Given the description of an element on the screen output the (x, y) to click on. 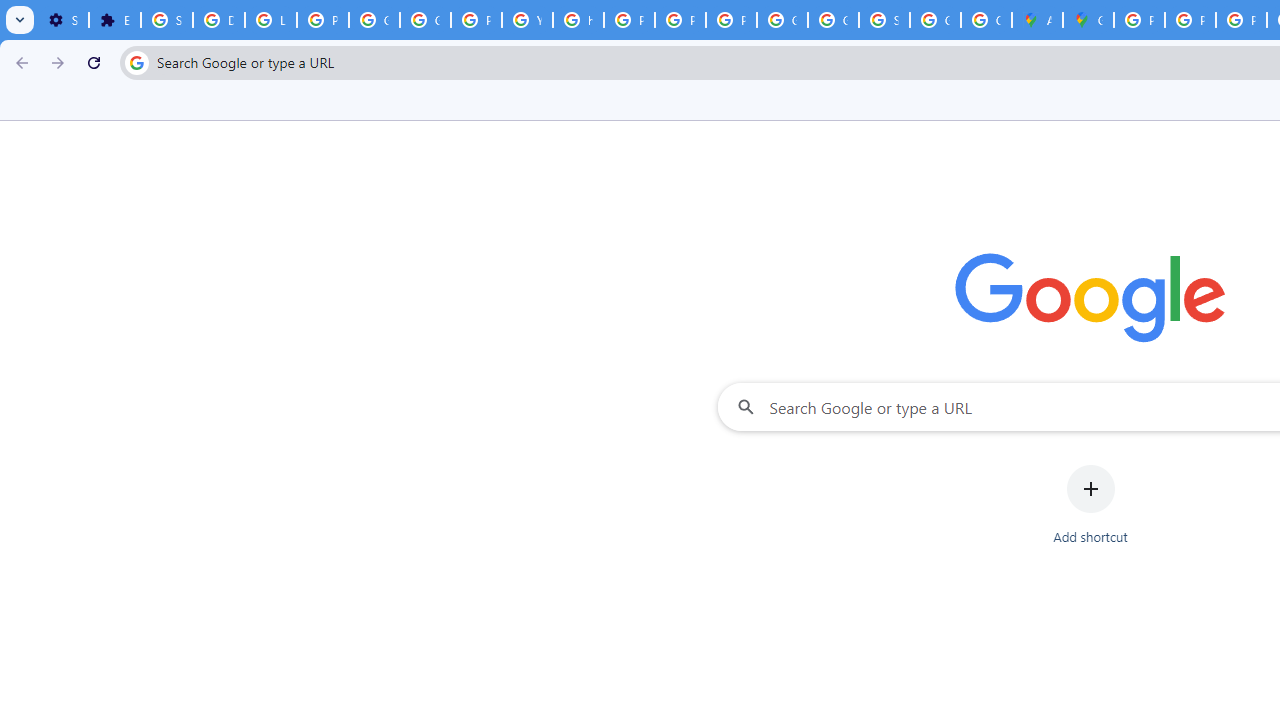
Sign in - Google Accounts (884, 20)
Google Account Help (374, 20)
Create your Google Account (986, 20)
Policy Accountability and Transparency - Transparency Center (1138, 20)
